Given the description of an element on the screen output the (x, y) to click on. 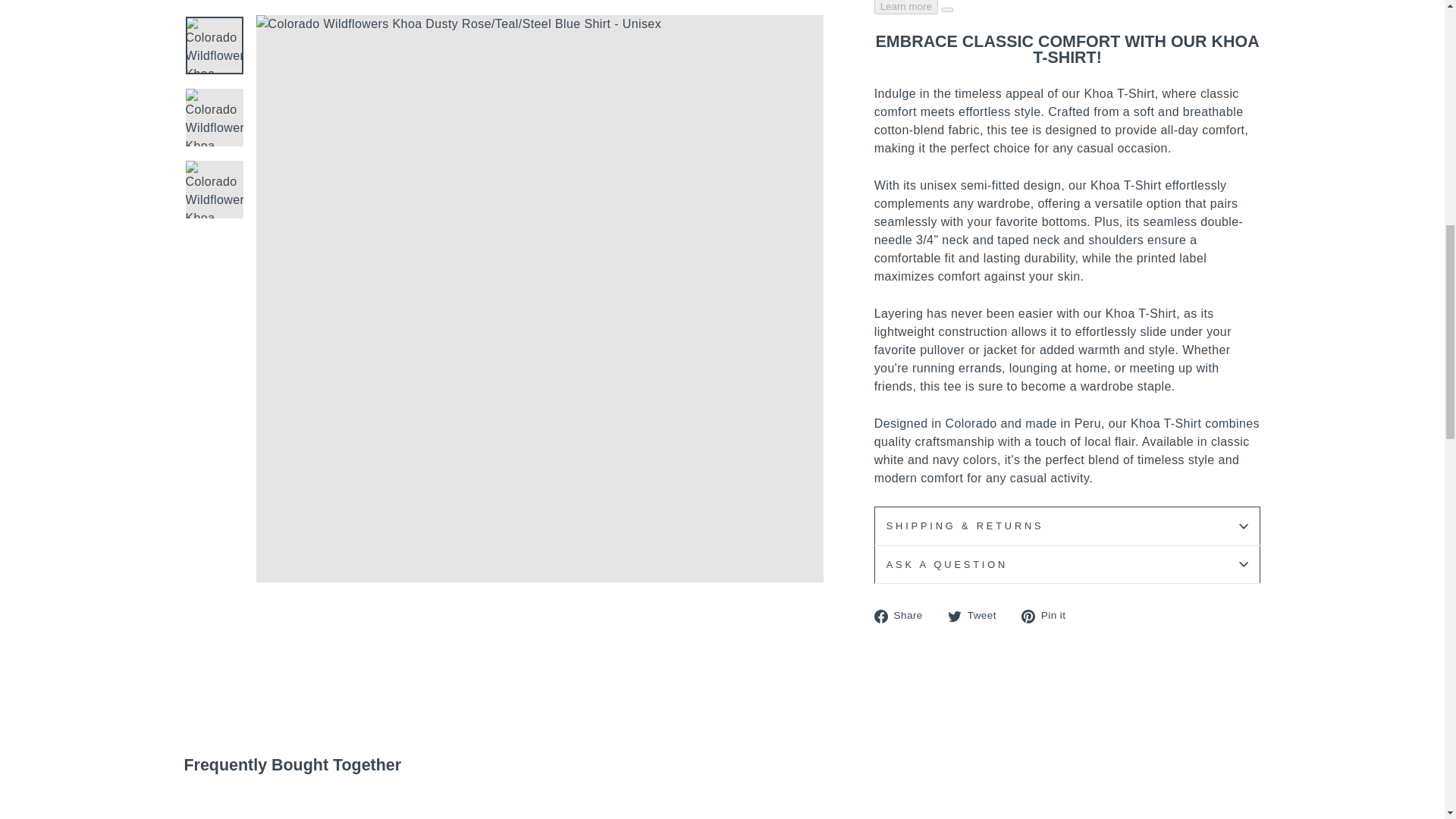
Share on Facebook (904, 615)
Tweet on Twitter (977, 615)
Pin on Pinterest (1049, 615)
